Given the description of an element on the screen output the (x, y) to click on. 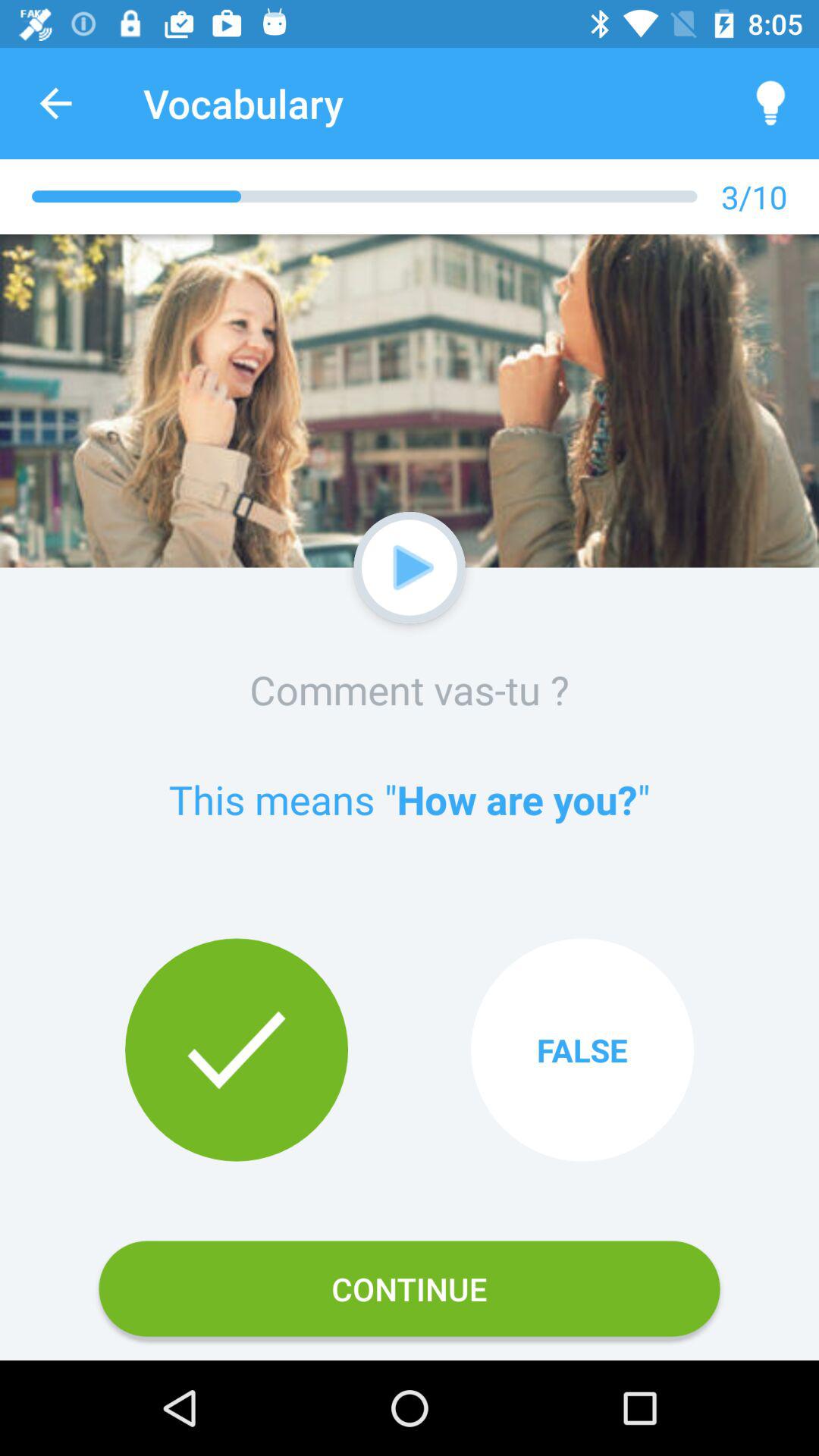
tap item next to vocabulary app (771, 103)
